Given the description of an element on the screen output the (x, y) to click on. 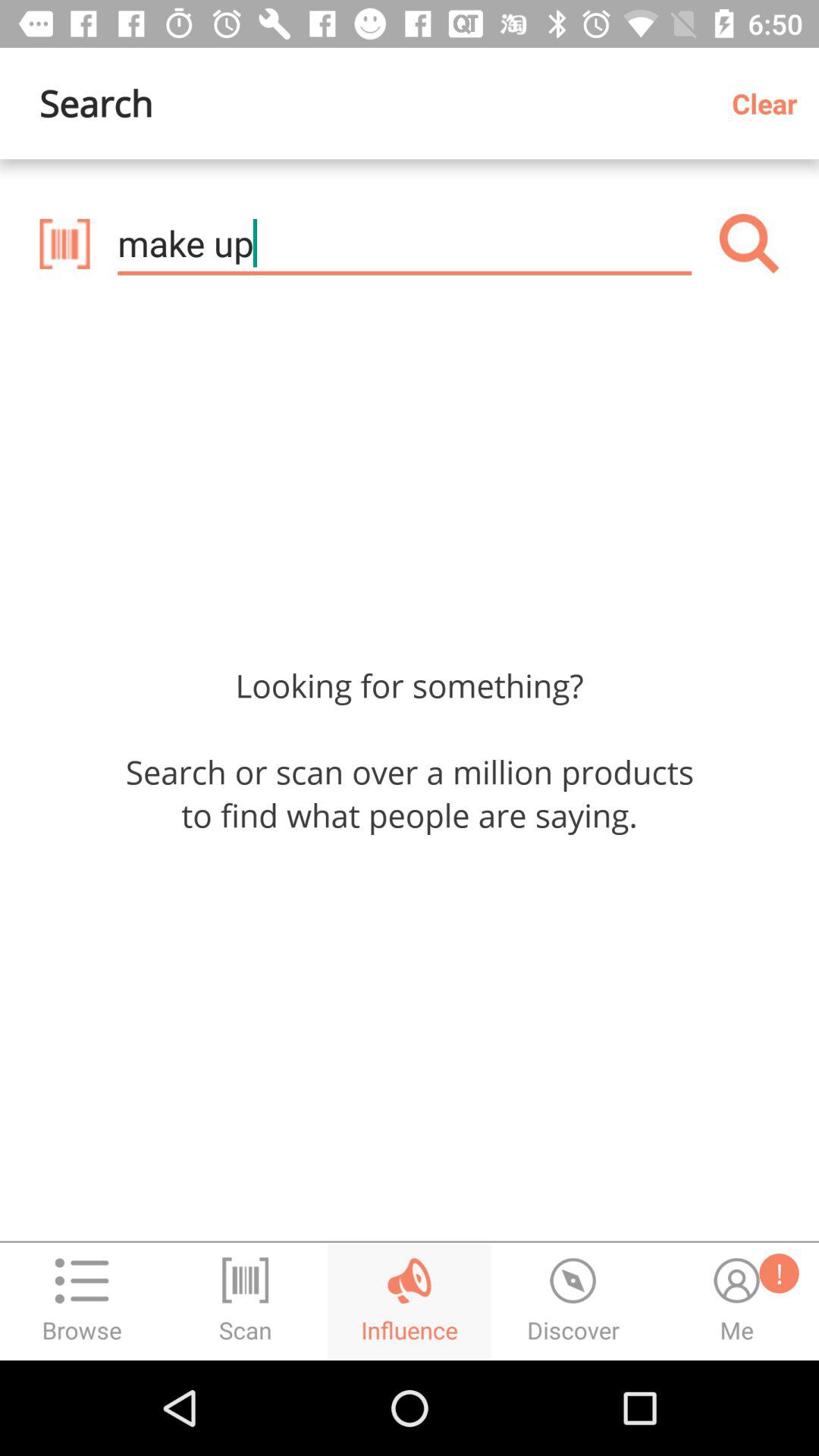
launch the item below clear icon (749, 243)
